Given the description of an element on the screen output the (x, y) to click on. 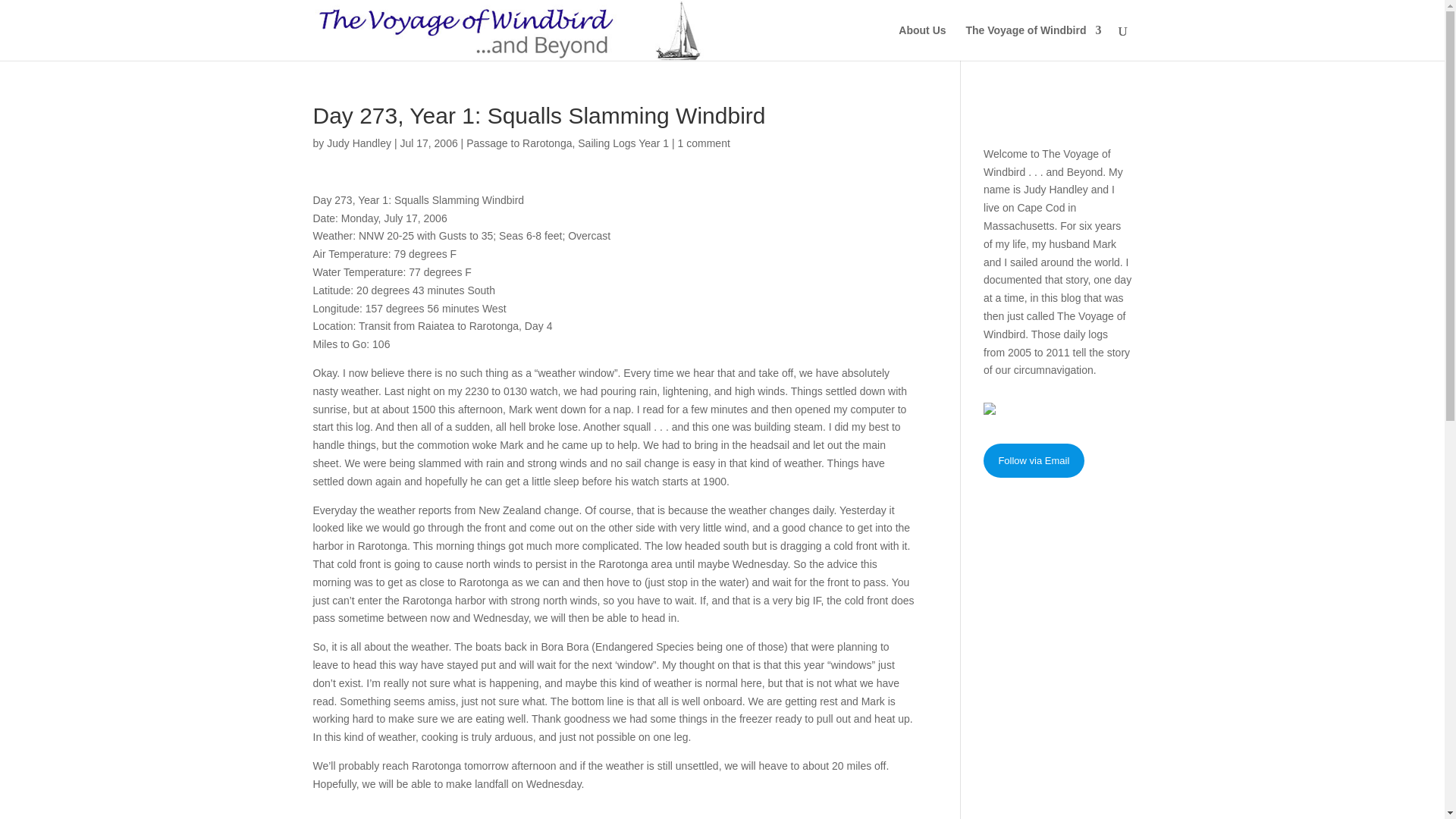
Judy Handley (358, 143)
About Us (921, 42)
Sailing Logs Year 1 (623, 143)
Passage to Rarotonga (518, 143)
Follow via Email (1034, 460)
Posts by Judy Handley (358, 143)
1 comment (704, 143)
The Voyage of Windbird (1032, 42)
